Given the description of an element on the screen output the (x, y) to click on. 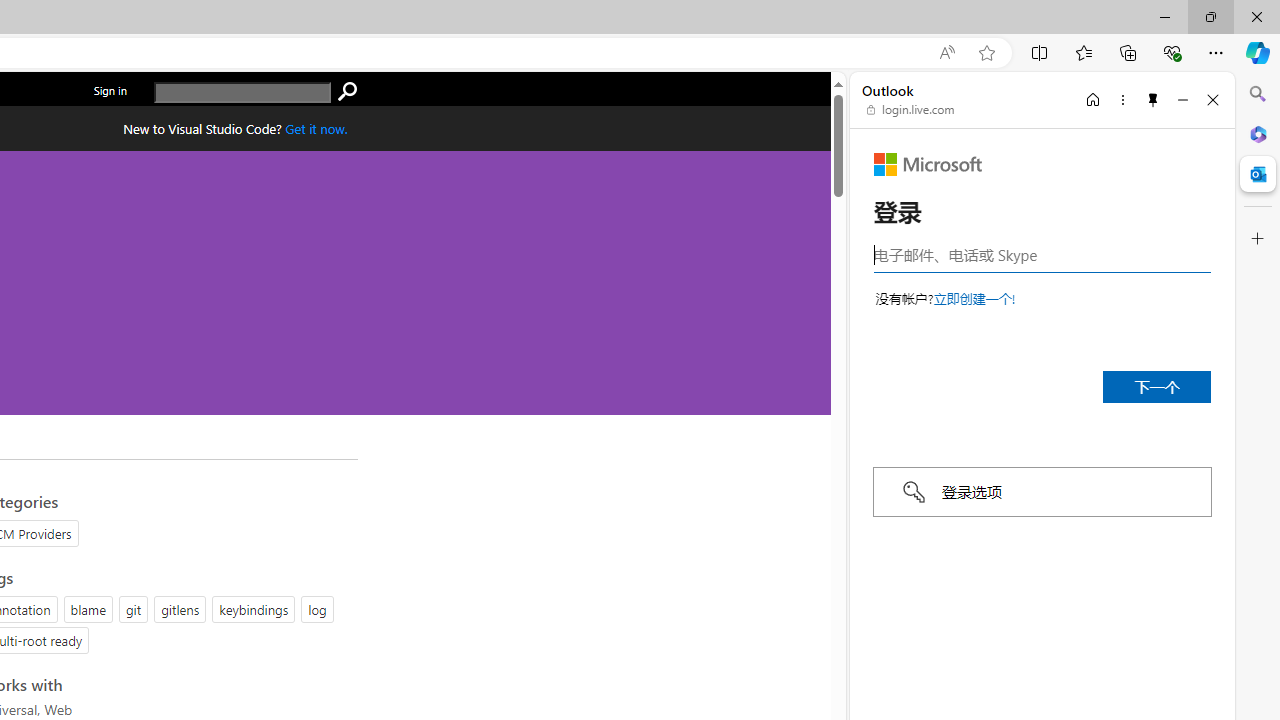
search (347, 92)
search (242, 92)
Unpin side pane (1153, 99)
login.live.com (911, 110)
